Given the description of an element on the screen output the (x, y) to click on. 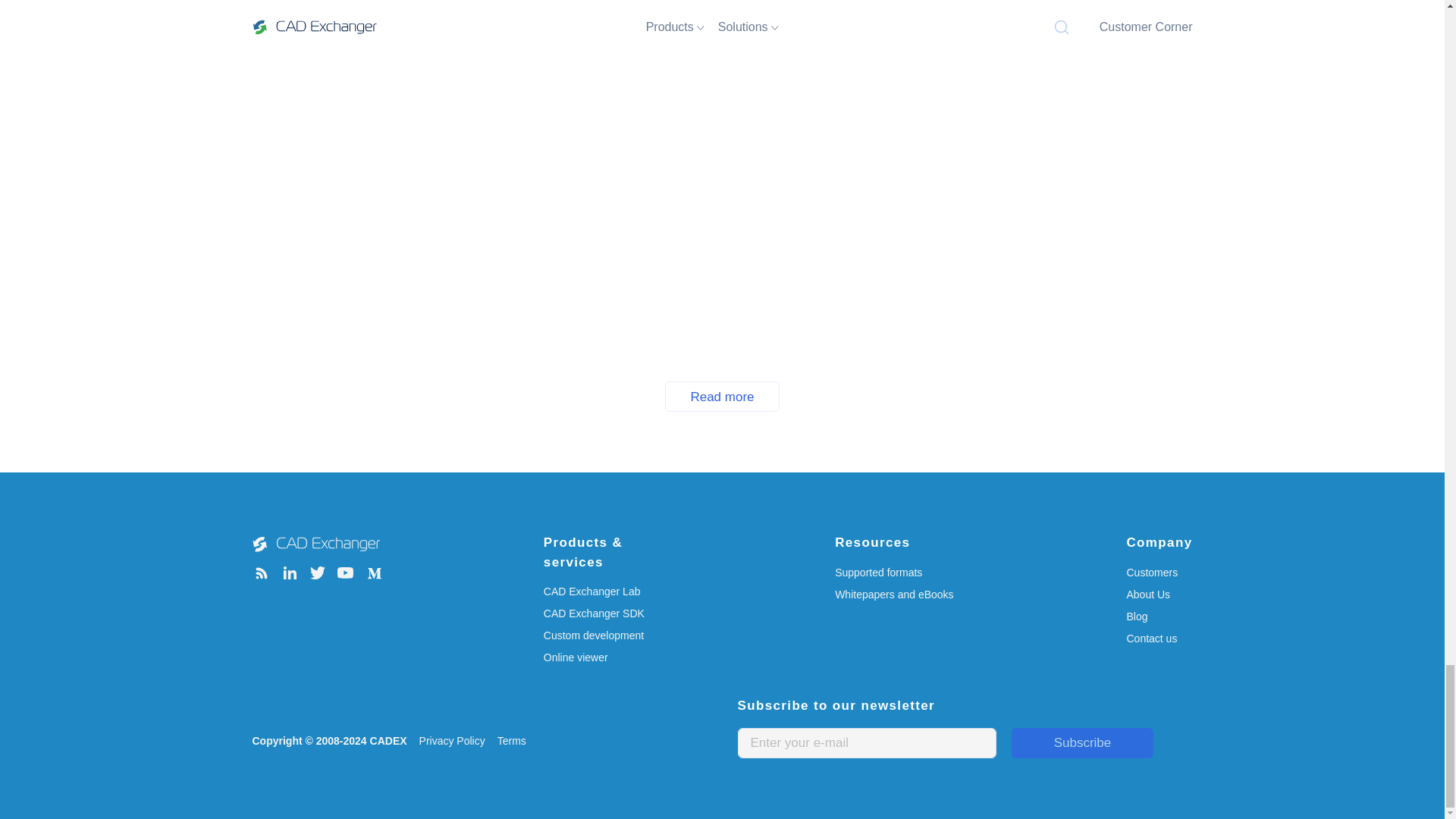
Read more (721, 396)
